Given the description of an element on the screen output the (x, y) to click on. 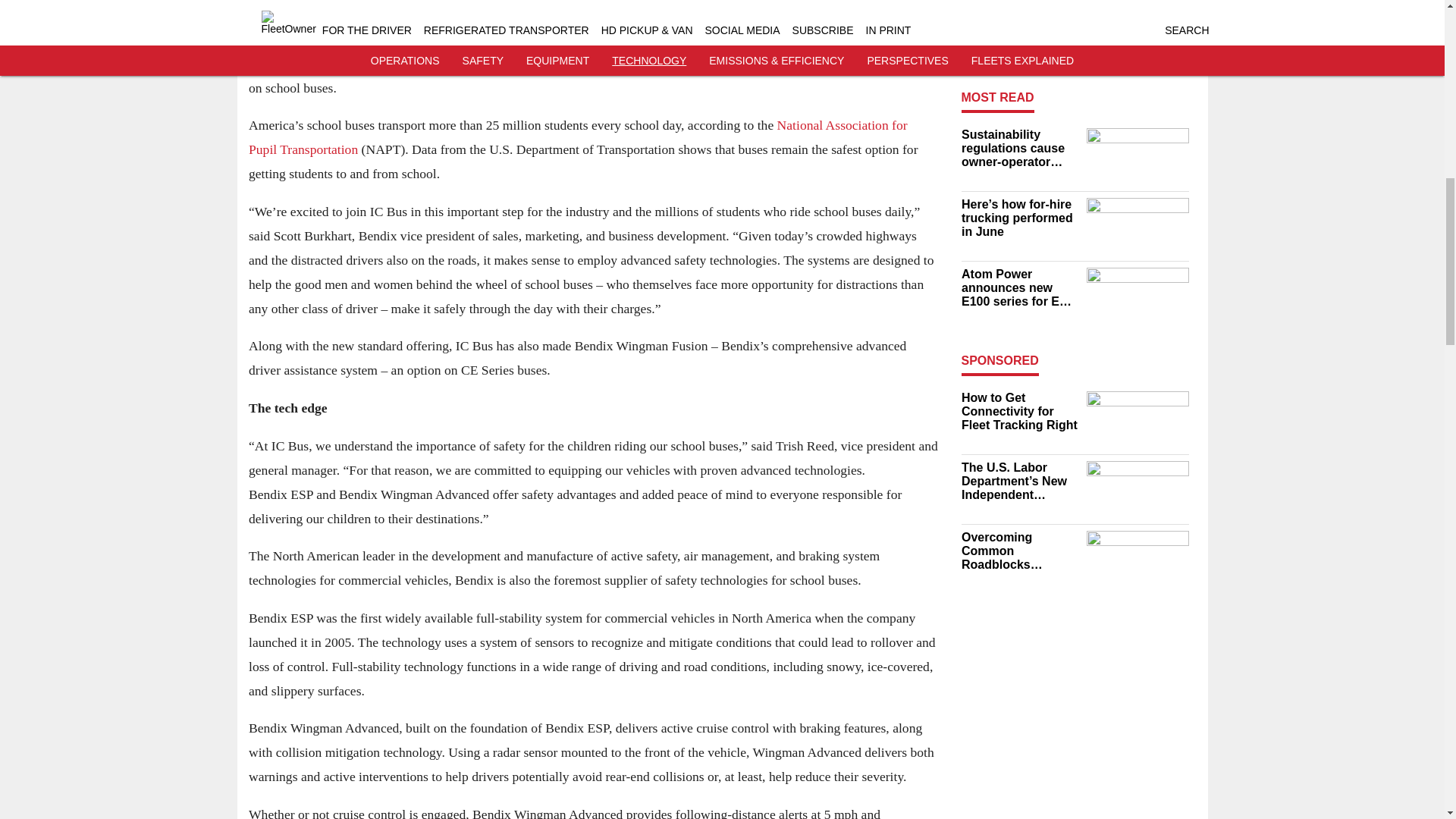
Navistar (396, 14)
National Association for Pupil Transportation (577, 137)
